Given the description of an element on the screen output the (x, y) to click on. 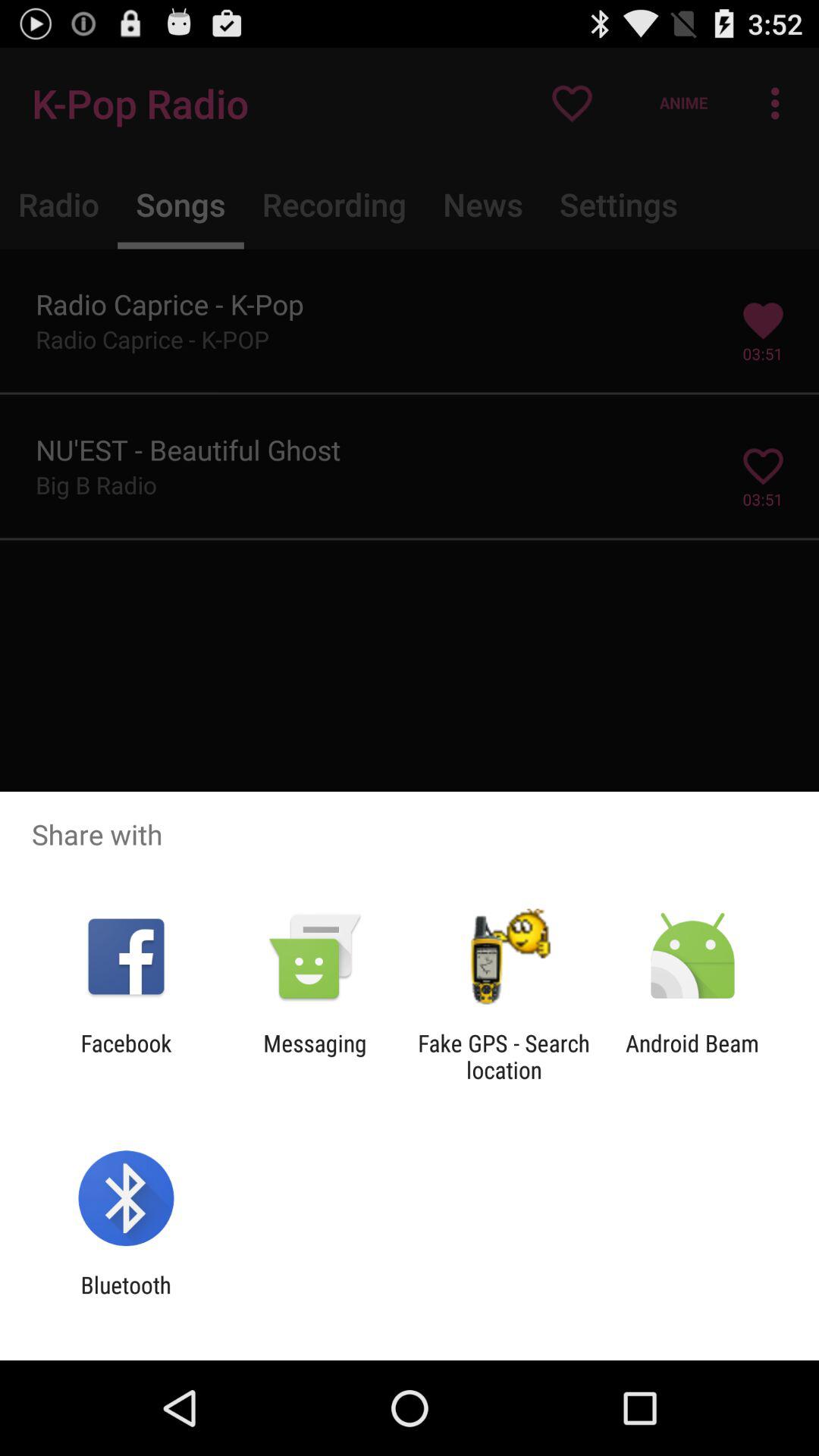
swipe to messaging item (314, 1056)
